Given the description of an element on the screen output the (x, y) to click on. 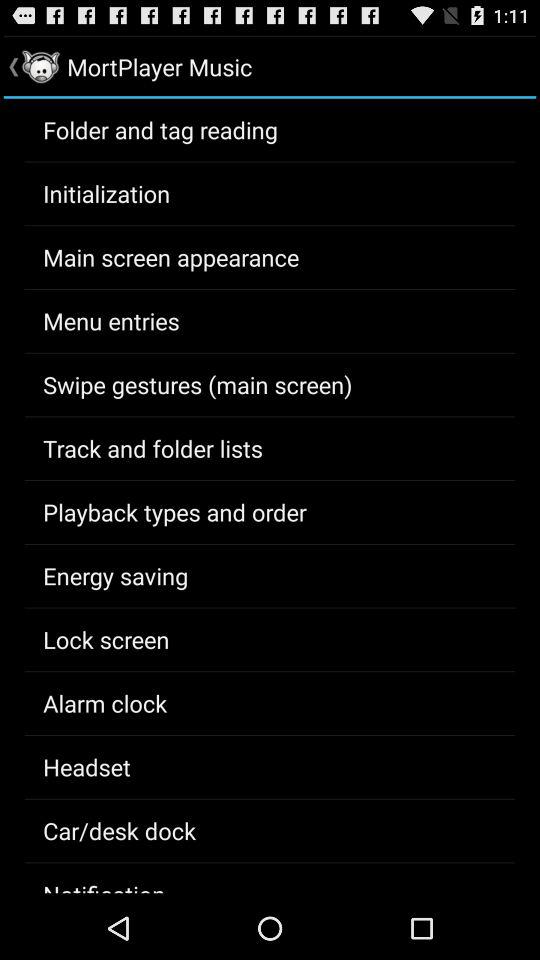
choose icon above notification item (119, 830)
